Given the description of an element on the screen output the (x, y) to click on. 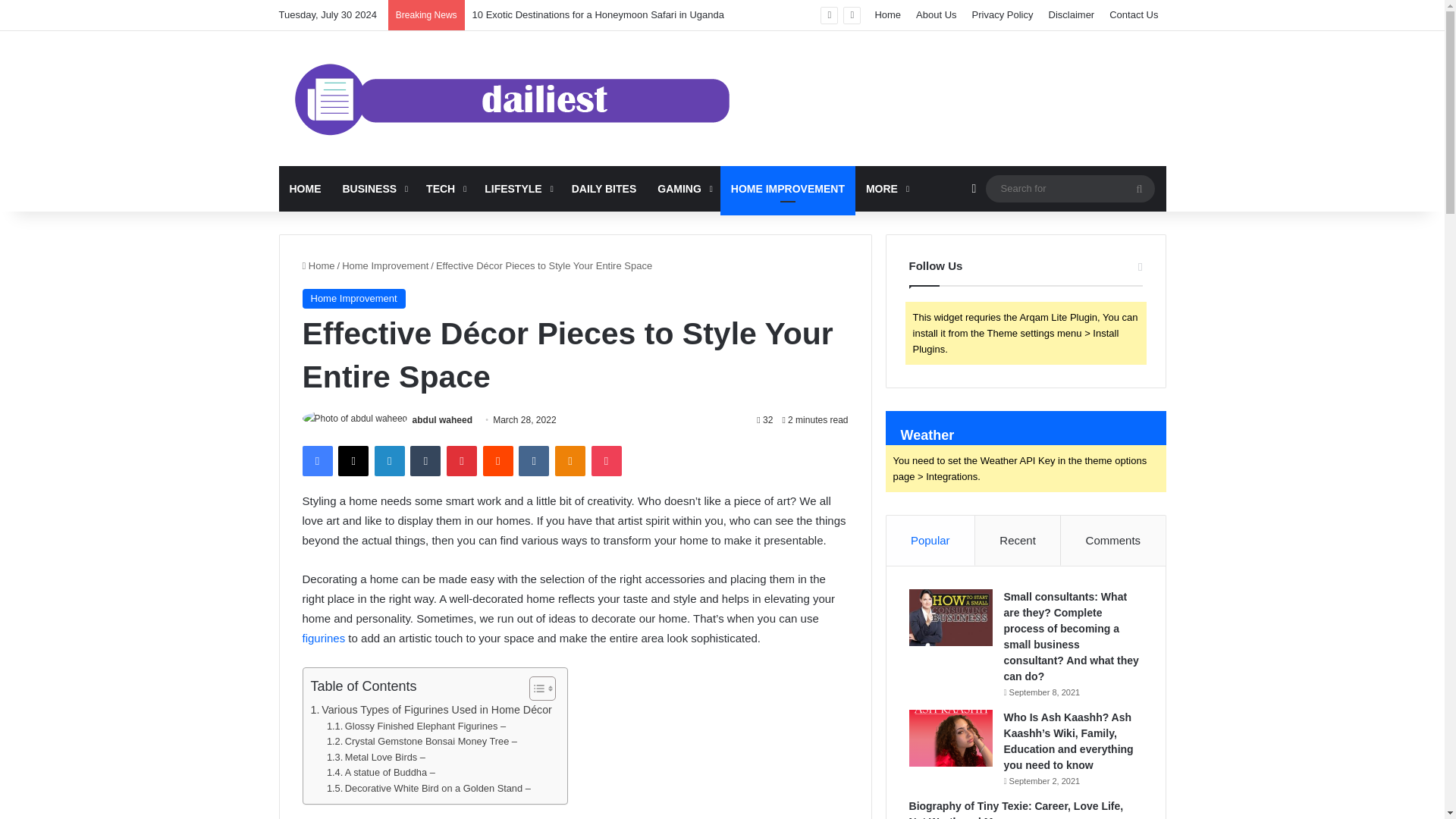
abdul waheed (441, 419)
Home Improvement (352, 298)
Pocket (606, 460)
LIFESTYLE (517, 188)
abdul waheed (441, 419)
Reddit (498, 460)
X (352, 460)
10 Exotic Destinations for a Honeymoon Safari in Uganda (597, 14)
Contact Us (1134, 15)
BUSINESS (373, 188)
GAMING (683, 188)
Privacy Policy (1002, 15)
Disclaimer (1071, 15)
HOME IMPROVEMENT (788, 188)
TECH (444, 188)
